Given the description of an element on the screen output the (x, y) to click on. 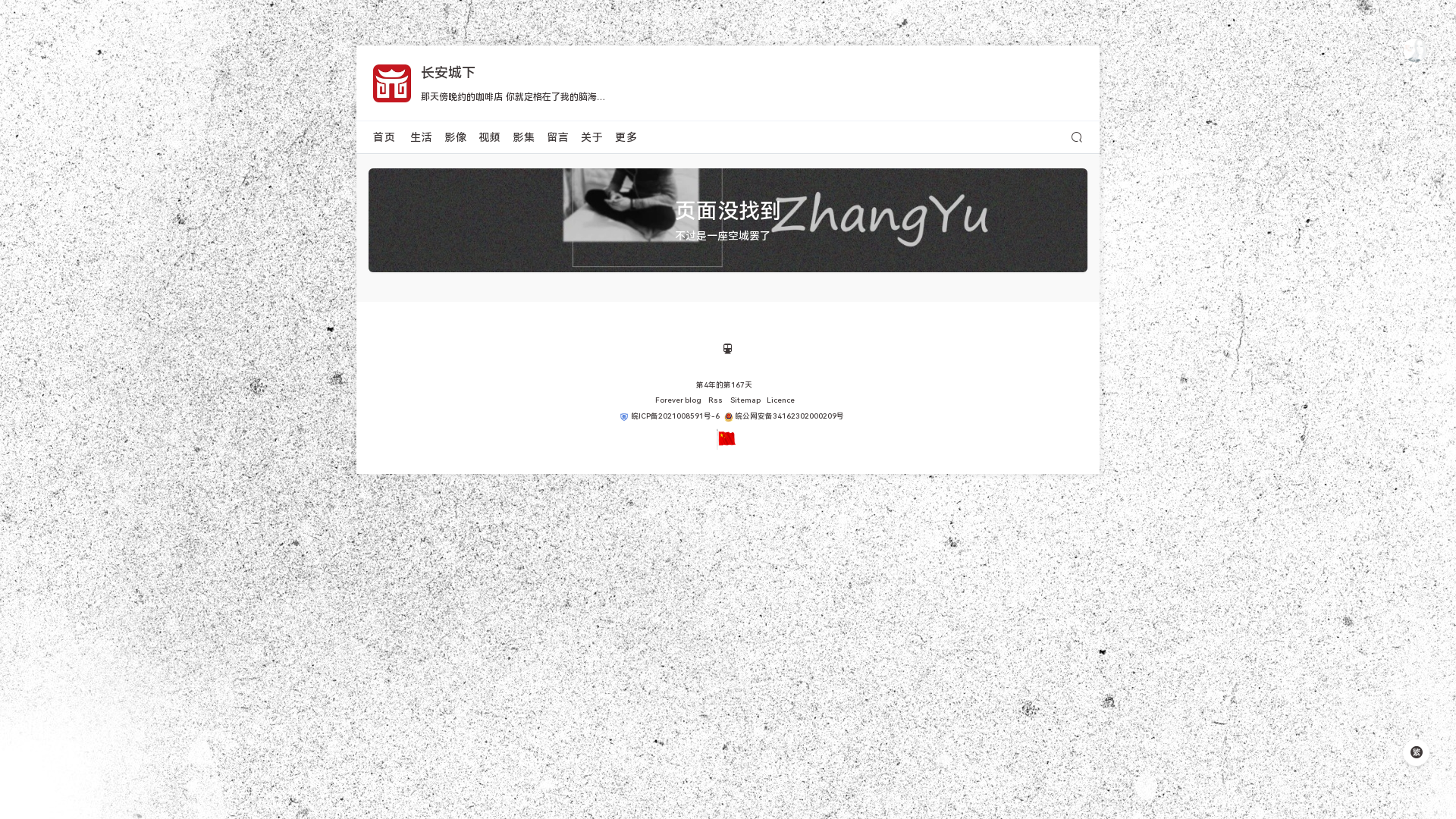
Forever blog Element type: text (678, 399)
Licence Element type: text (780, 399)
Rss Element type: text (715, 399)
     Element type: text (615, 415)
Sitemap Element type: text (745, 399)
